Given the description of an element on the screen output the (x, y) to click on. 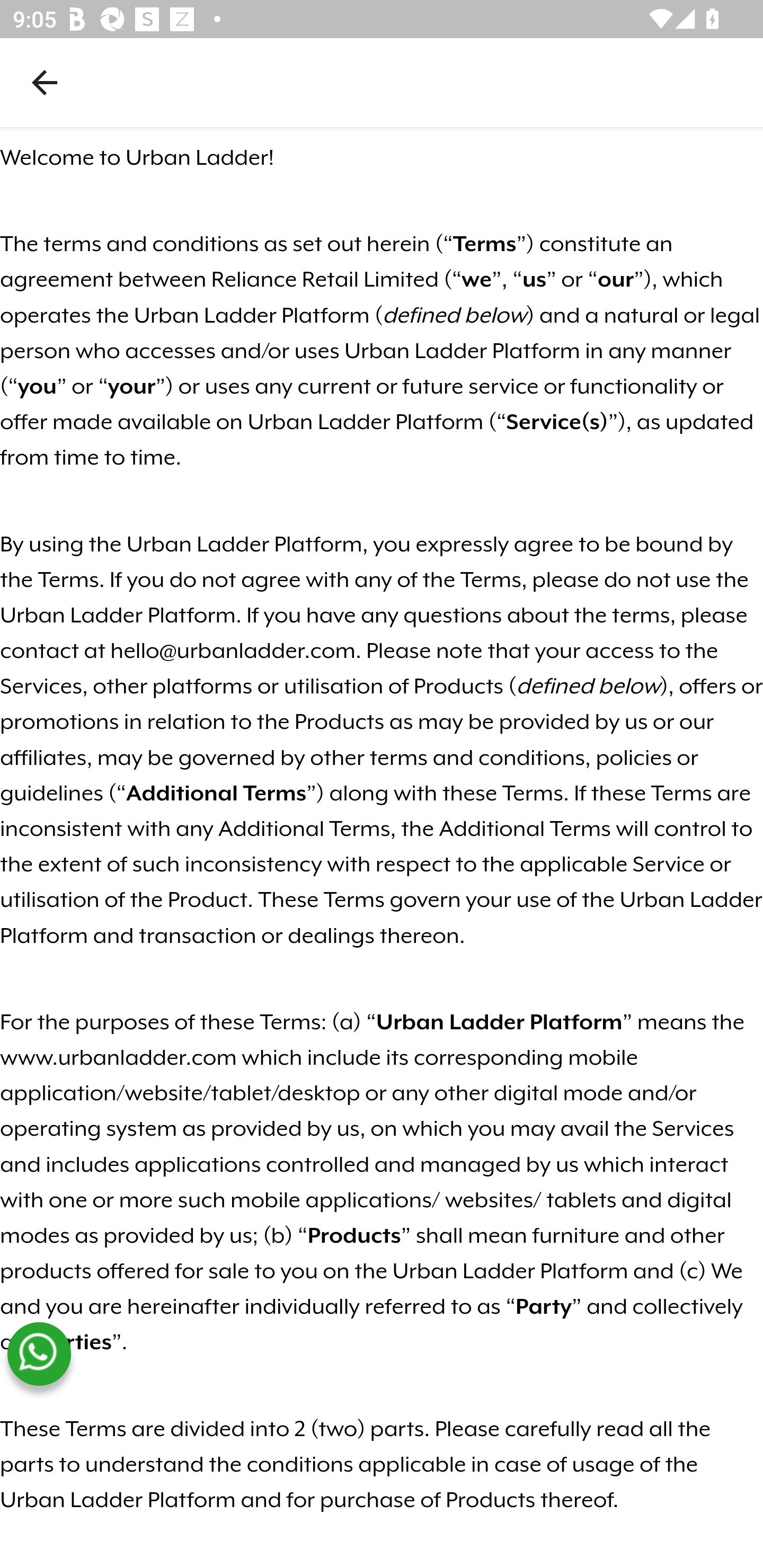
Navigate up (44, 82)
whatsapp (38, 1353)
